Given the description of an element on the screen output the (x, y) to click on. 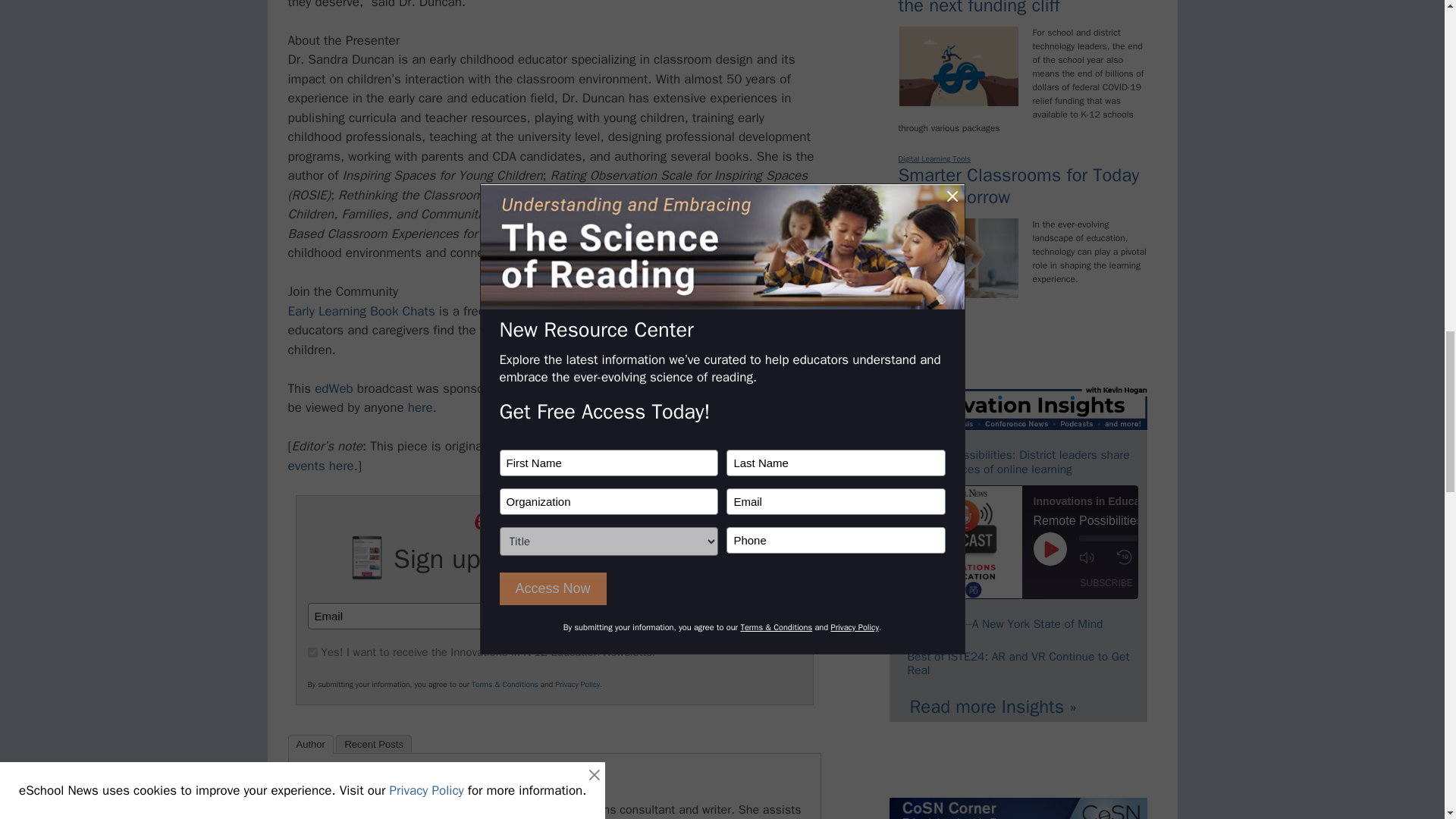
SUBSCRIBE (727, 615)
100 (312, 652)
